Given the description of an element on the screen output the (x, y) to click on. 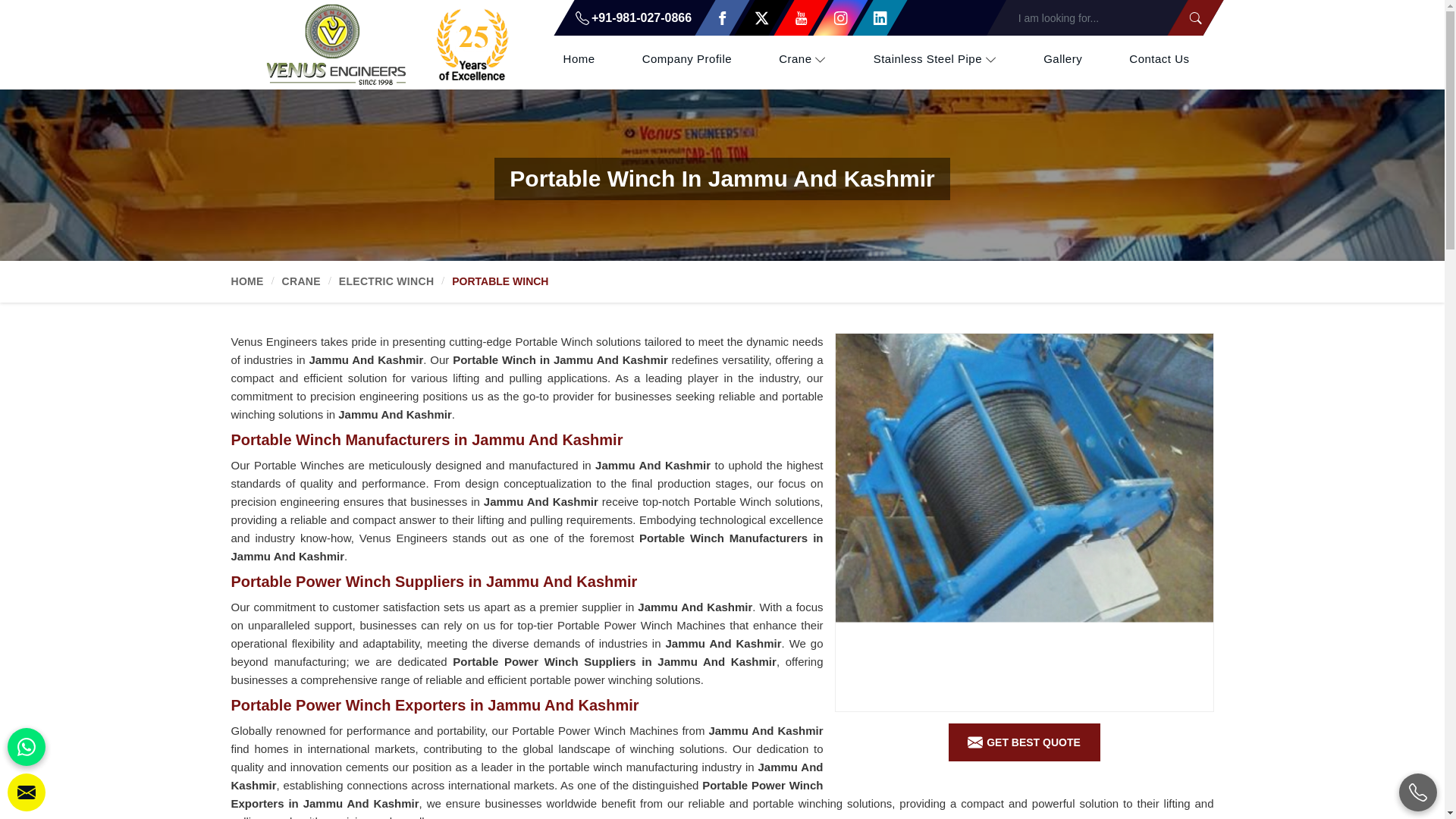
Home (579, 59)
Company Profile (686, 59)
Twitter (751, 18)
Venus Engineers (386, 44)
About Us (686, 59)
Venus Engineers (387, 44)
Linkedin (869, 18)
Crane (803, 59)
Instagram (830, 18)
Crane (803, 59)
Home (579, 59)
Facebook (712, 18)
Youtube (791, 18)
